Given the description of an element on the screen output the (x, y) to click on. 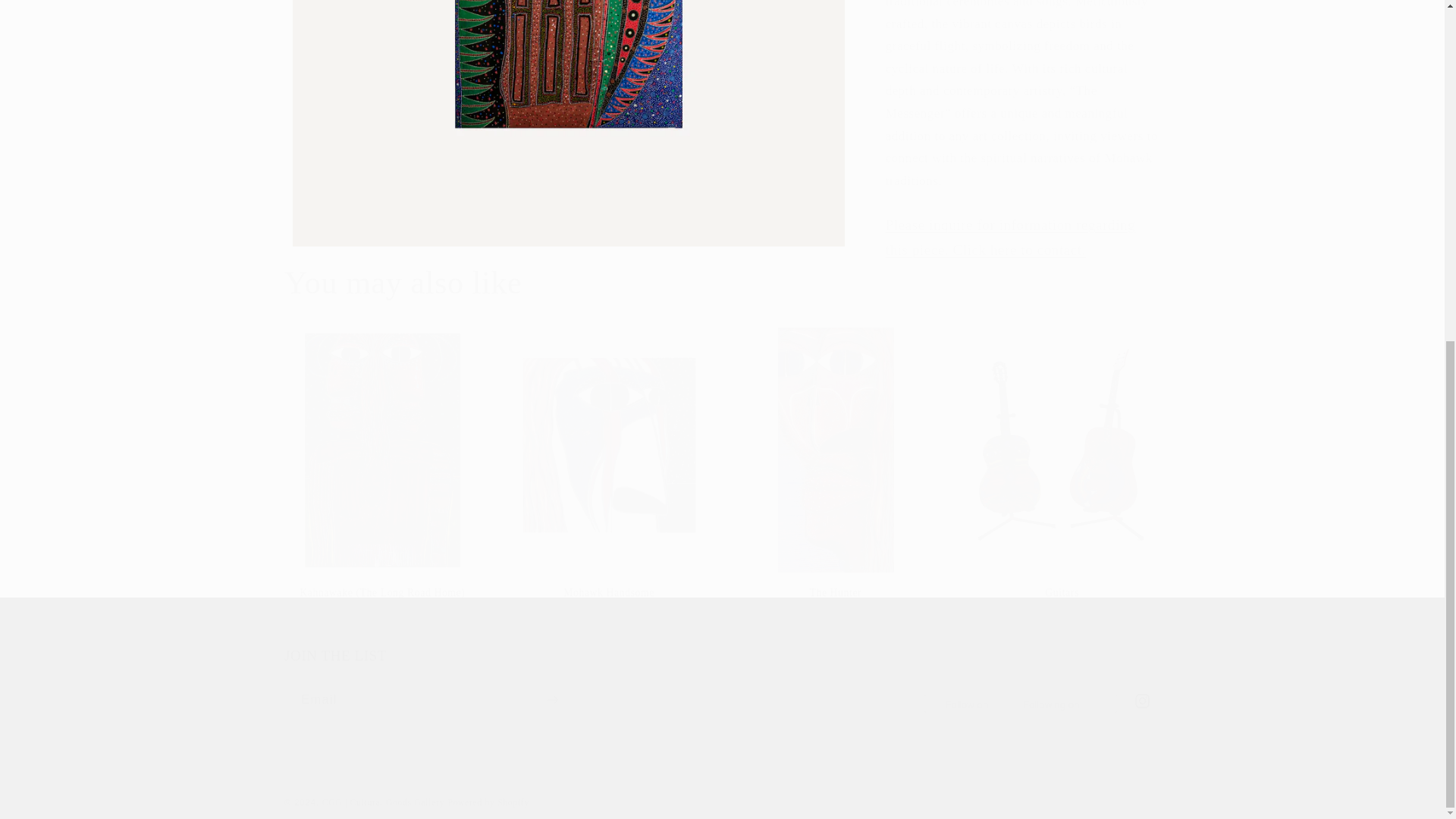
Mohawk Handsome (609, 592)
Contact us for inquiries. (721, 683)
Open media 1 in modal (1010, 9)
The Hunter (568, 115)
